Given the description of an element on the screen output the (x, y) to click on. 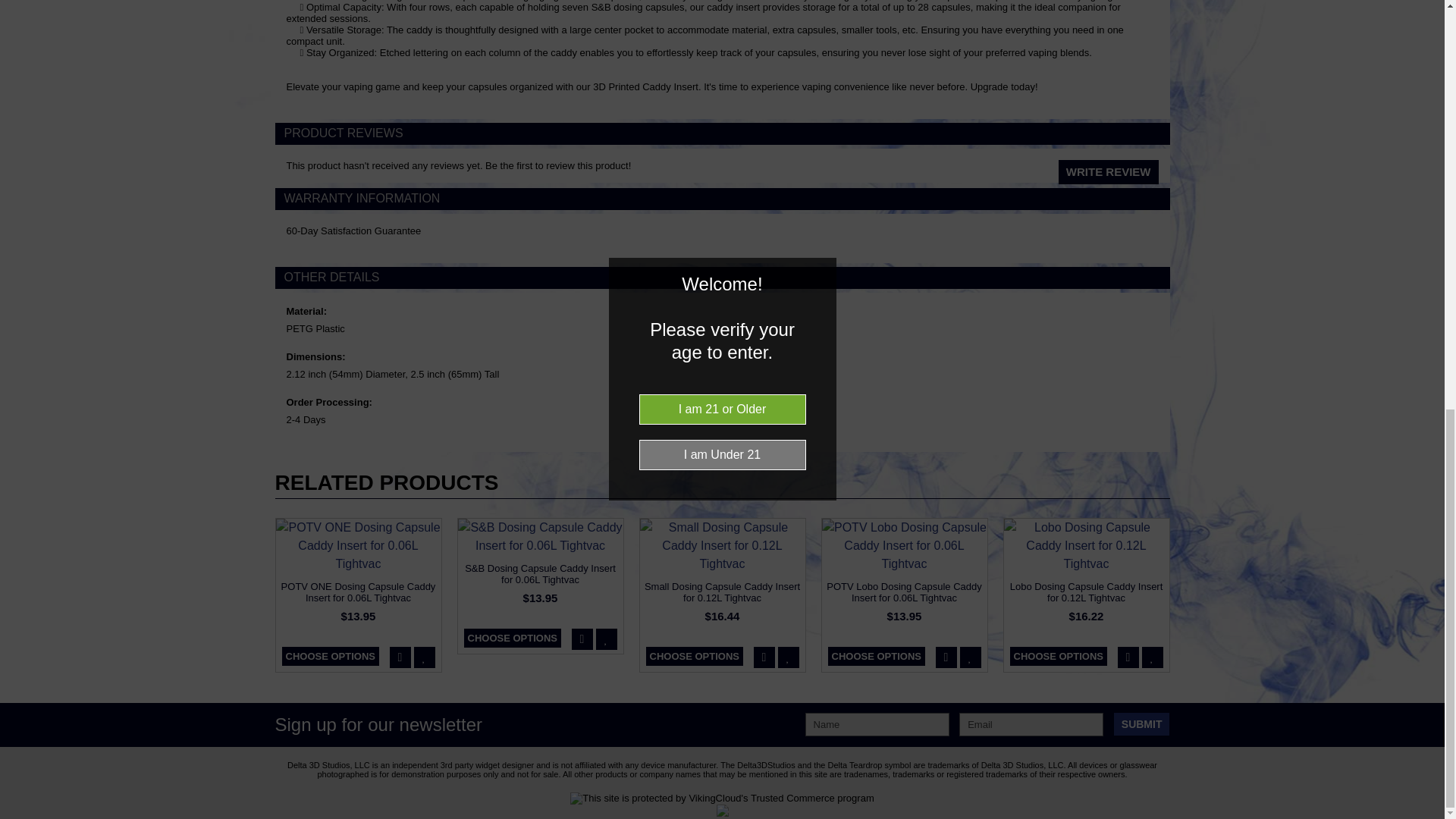
Submit (1141, 723)
Email (1031, 724)
Name (877, 724)
